Given the description of an element on the screen output the (x, y) to click on. 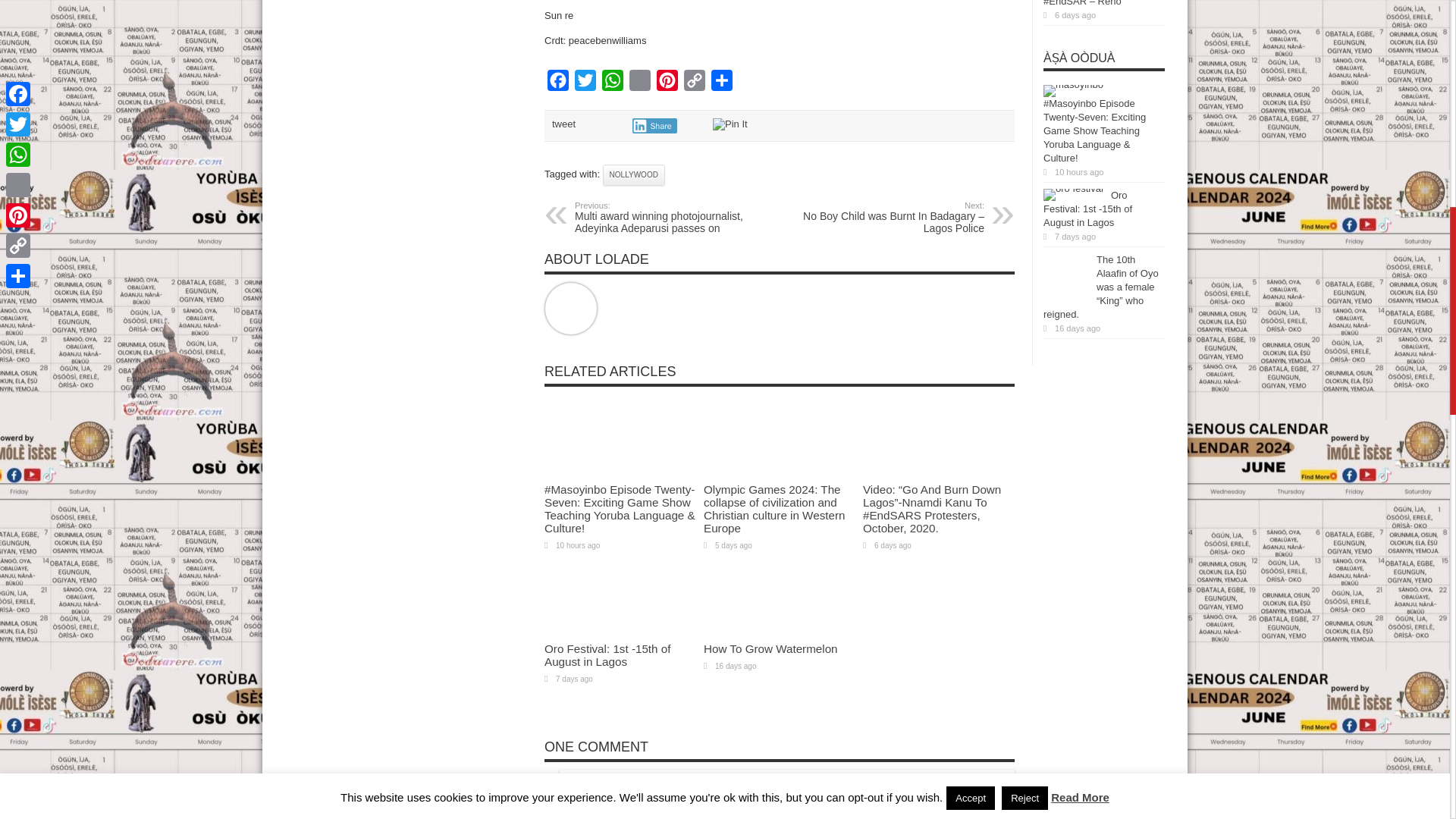
WhatsApp (612, 83)
Twitter (585, 83)
Copy Link (694, 83)
Pin It (730, 123)
Facebook (558, 83)
Email (639, 83)
Pinterest (667, 83)
